Given the description of an element on the screen output the (x, y) to click on. 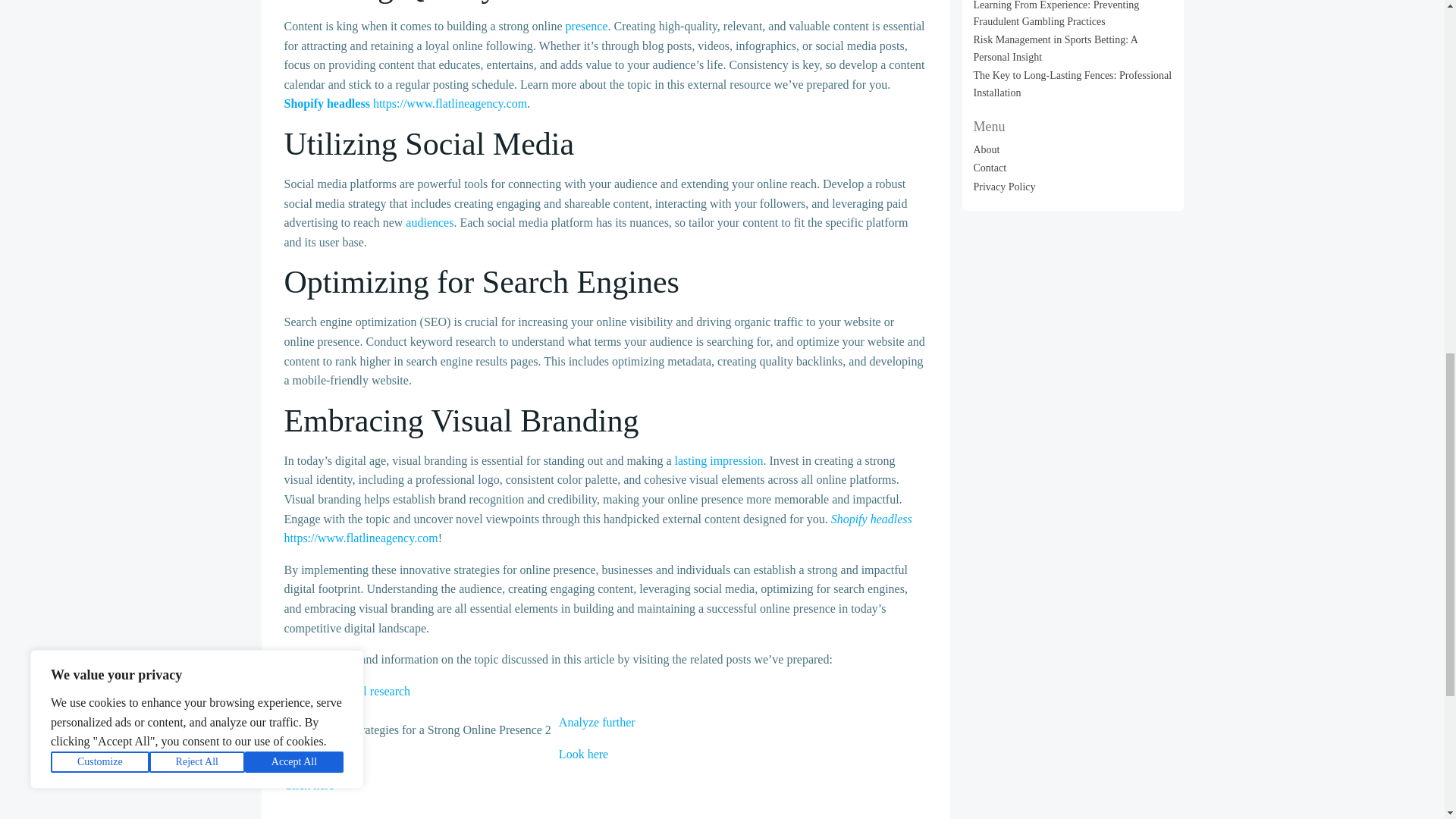
Look here (583, 753)
Click here (308, 784)
presence (587, 25)
lasting impression (718, 460)
Read this helpful research (346, 690)
Analyze further (596, 721)
audiences (429, 222)
